Given the description of an element on the screen output the (x, y) to click on. 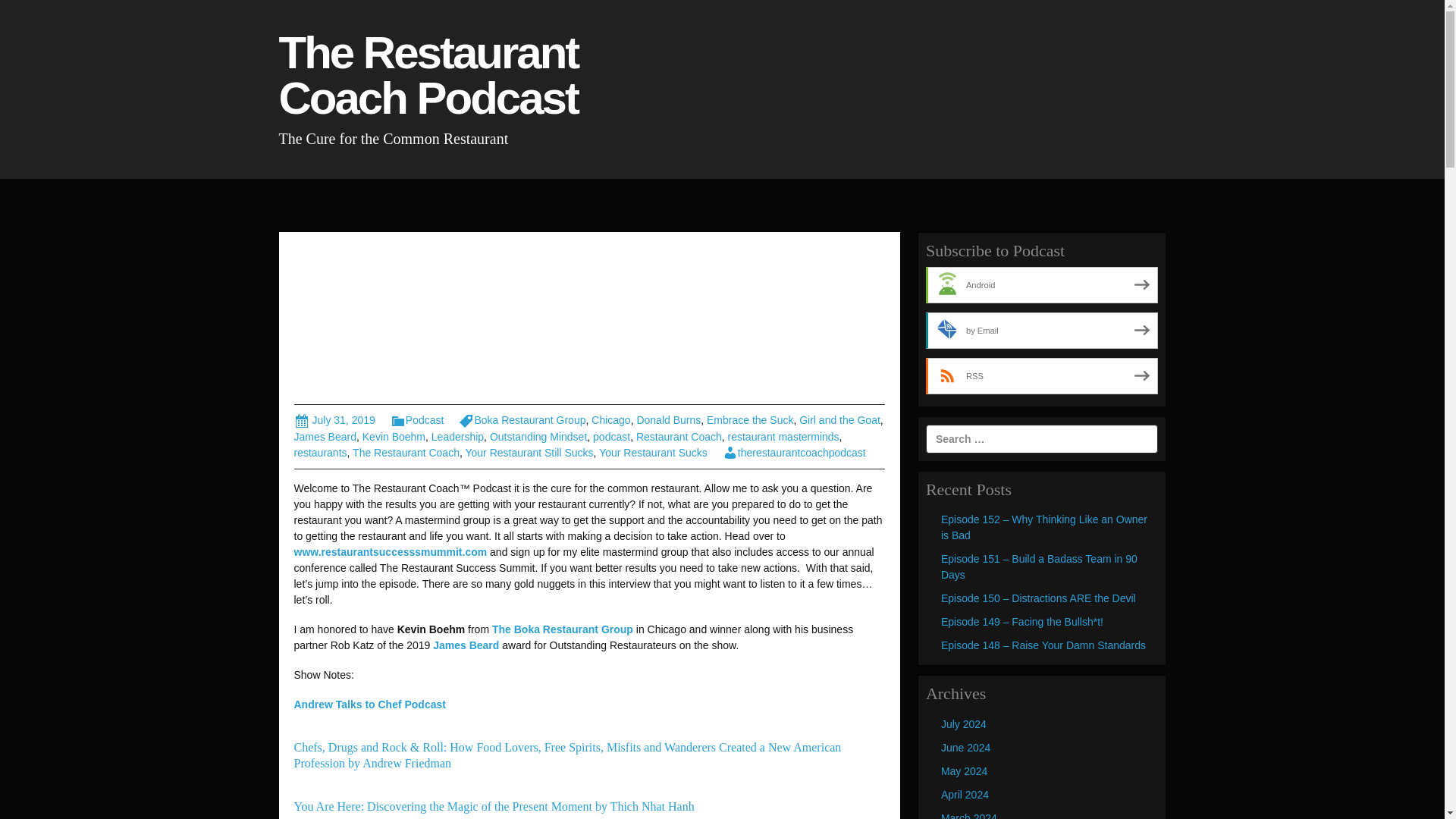
restaurants (320, 452)
James Beard (465, 645)
podcast (611, 436)
The Restaurant Coach Podcast (435, 81)
Girl and the Goat (839, 419)
Andrew Talks to Chef Podcast (369, 704)
Outstanding Mindset (537, 436)
www.restaurantsuccesssmummit.com (390, 551)
The Boka Restaurant Group (562, 629)
Kevin Boehm (393, 436)
Your Restaurant Still Sucks (528, 452)
Chicago (610, 419)
Boka Restaurant Group (521, 419)
Your Restaurant Sucks (652, 452)
